Given the description of an element on the screen output the (x, y) to click on. 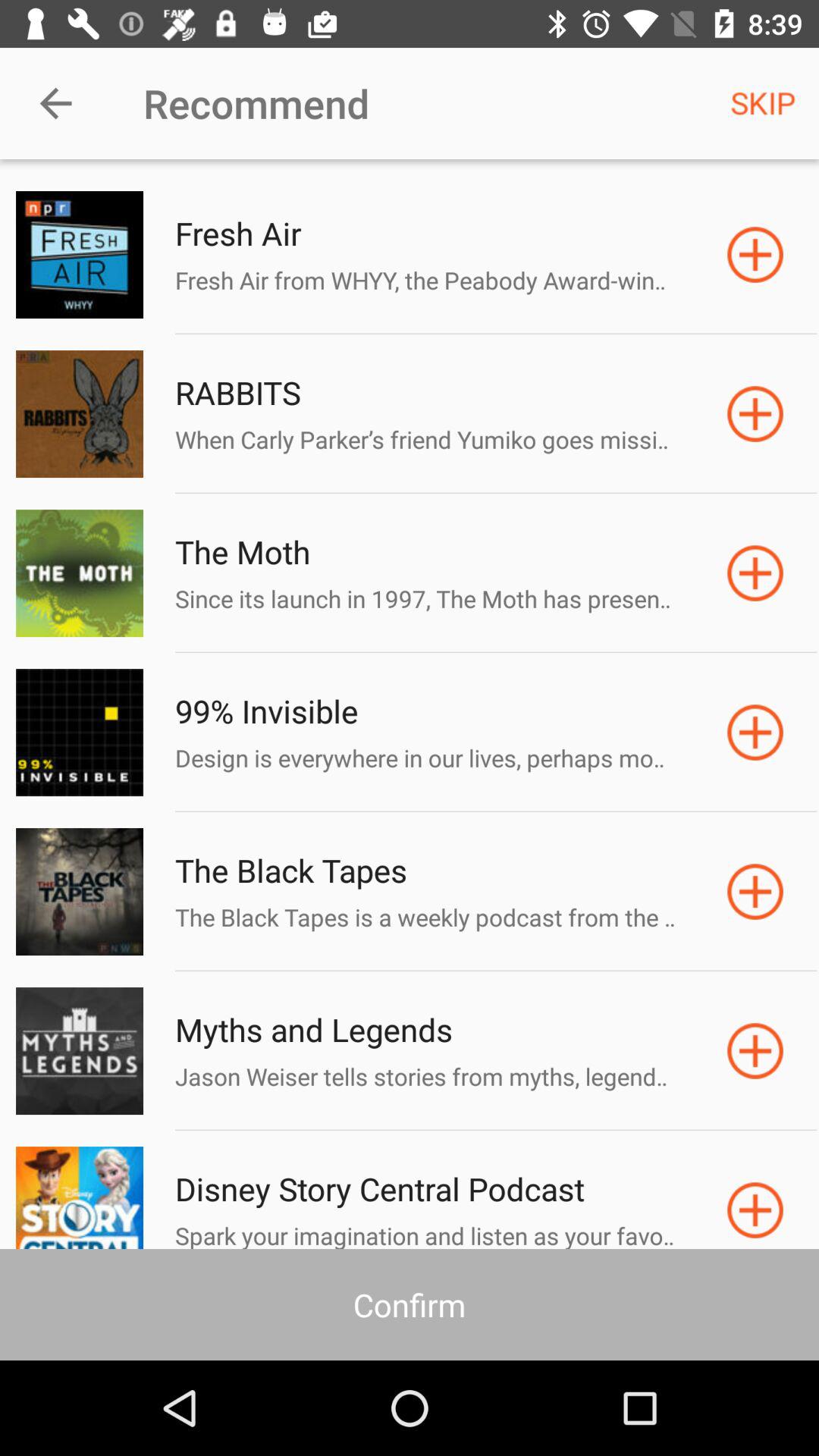
click icon next to recommend (55, 103)
